Given the description of an element on the screen output the (x, y) to click on. 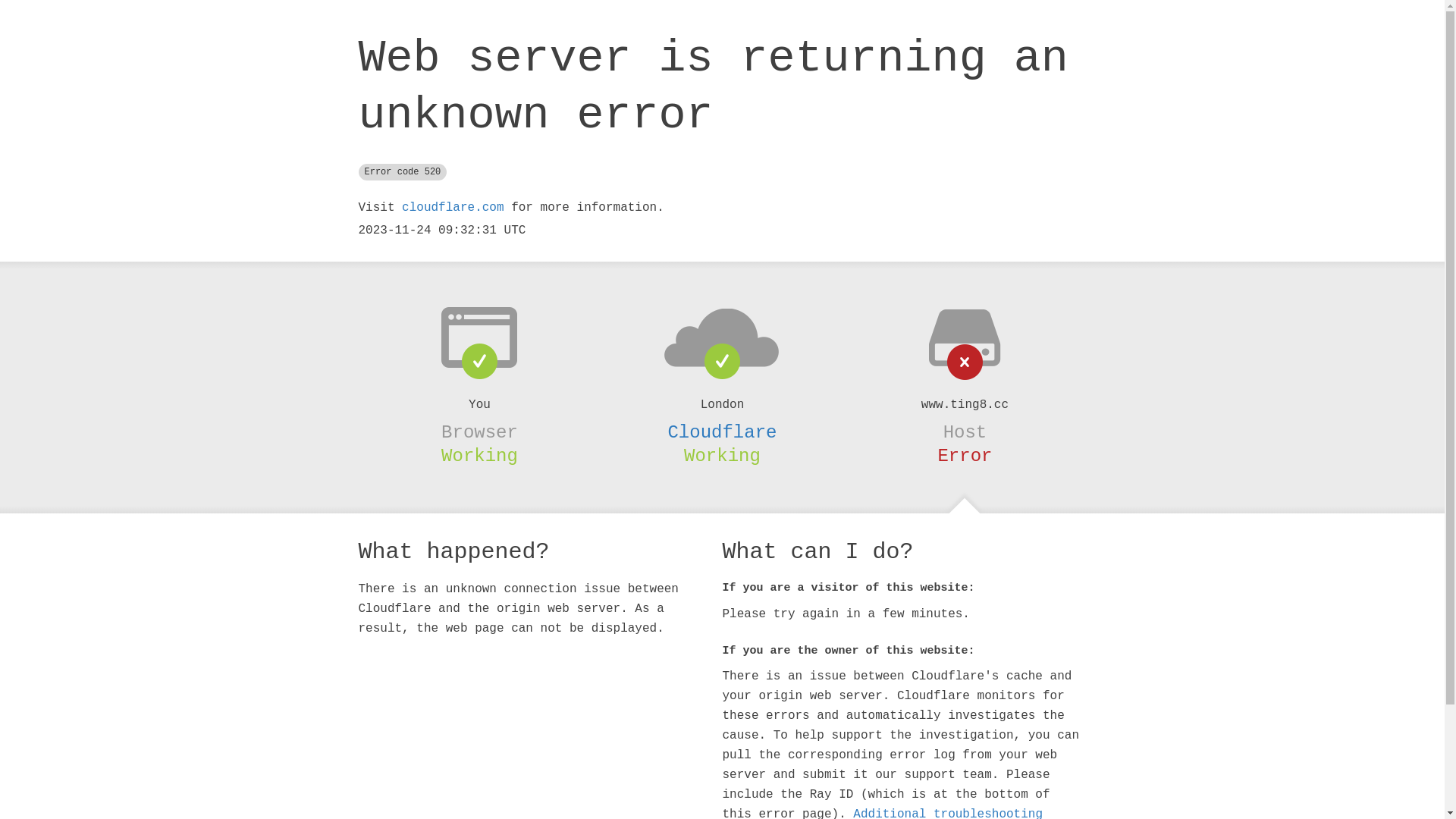
Cloudflare Element type: text (721, 432)
cloudflare.com Element type: text (452, 207)
